Given the description of an element on the screen output the (x, y) to click on. 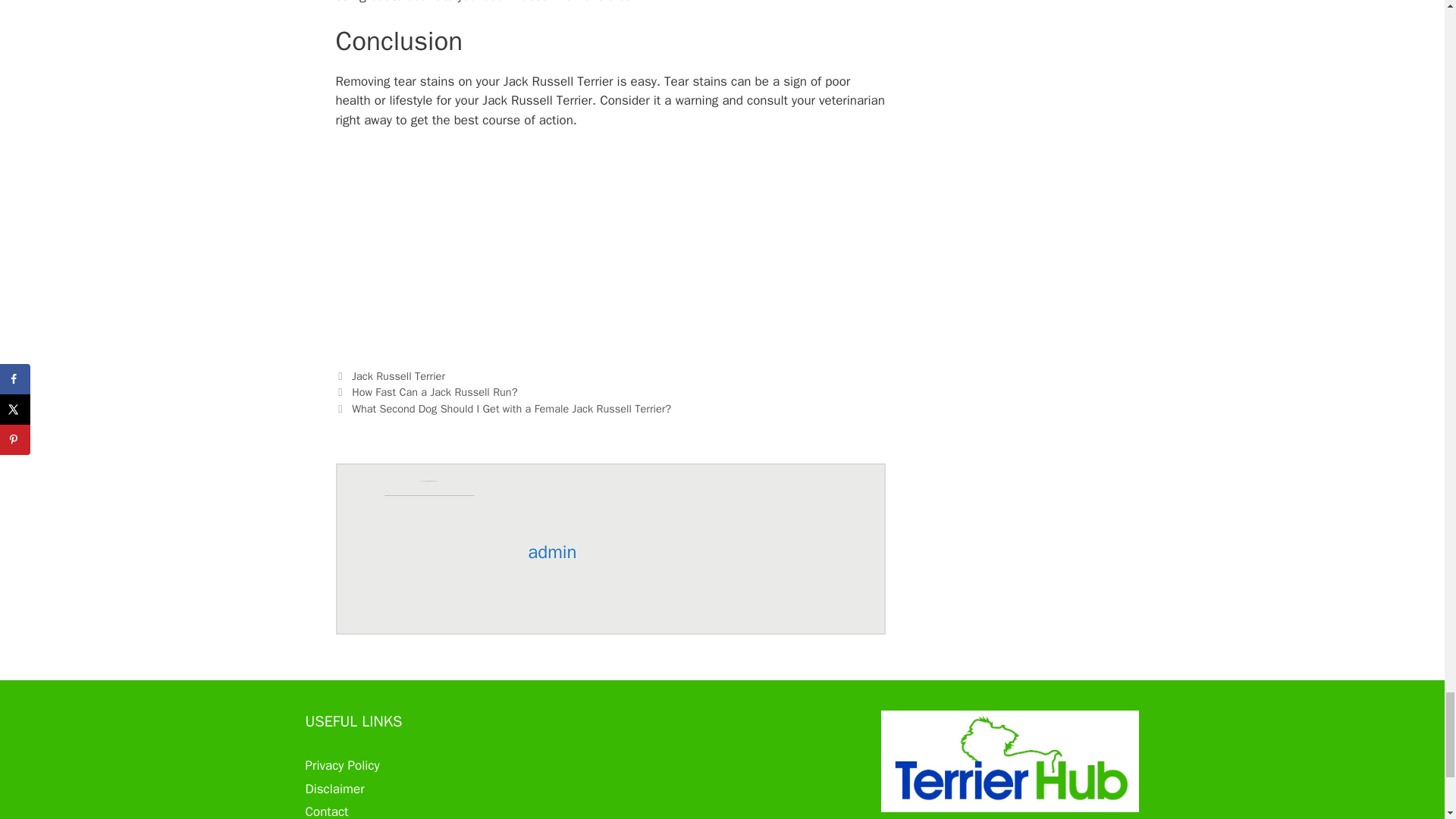
Privacy Policy (341, 765)
admin (551, 551)
Author Links (551, 551)
Jack Russell Terrier (398, 376)
How Fast Can a Jack Russell Run? (434, 391)
